Given the description of an element on the screen output the (x, y) to click on. 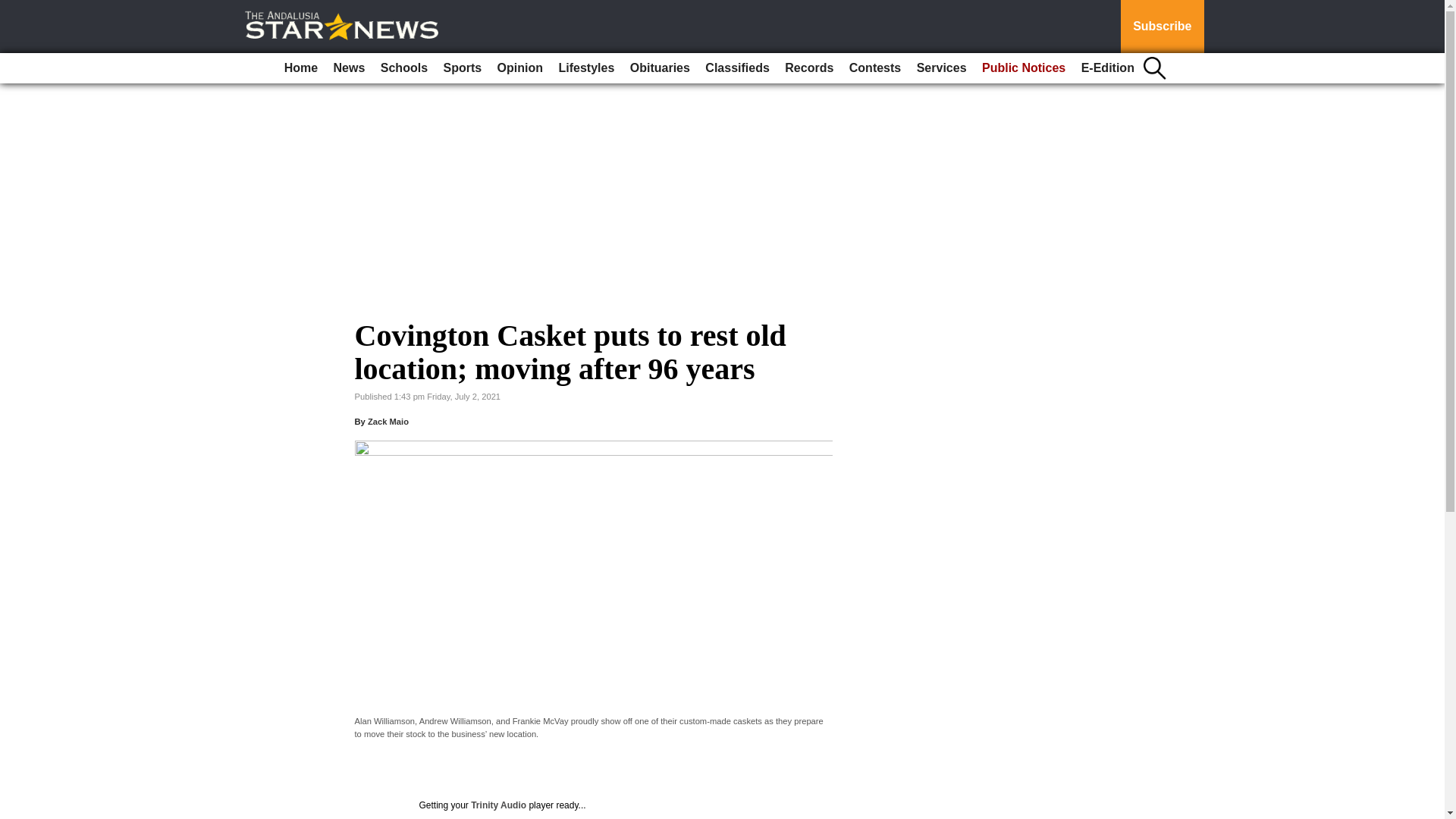
Schools (403, 68)
Sports (461, 68)
E-Edition (1107, 68)
Obituaries (659, 68)
Classifieds (736, 68)
Services (941, 68)
News (349, 68)
Home (300, 68)
Contests (875, 68)
Go (13, 9)
